Given the description of an element on the screen output the (x, y) to click on. 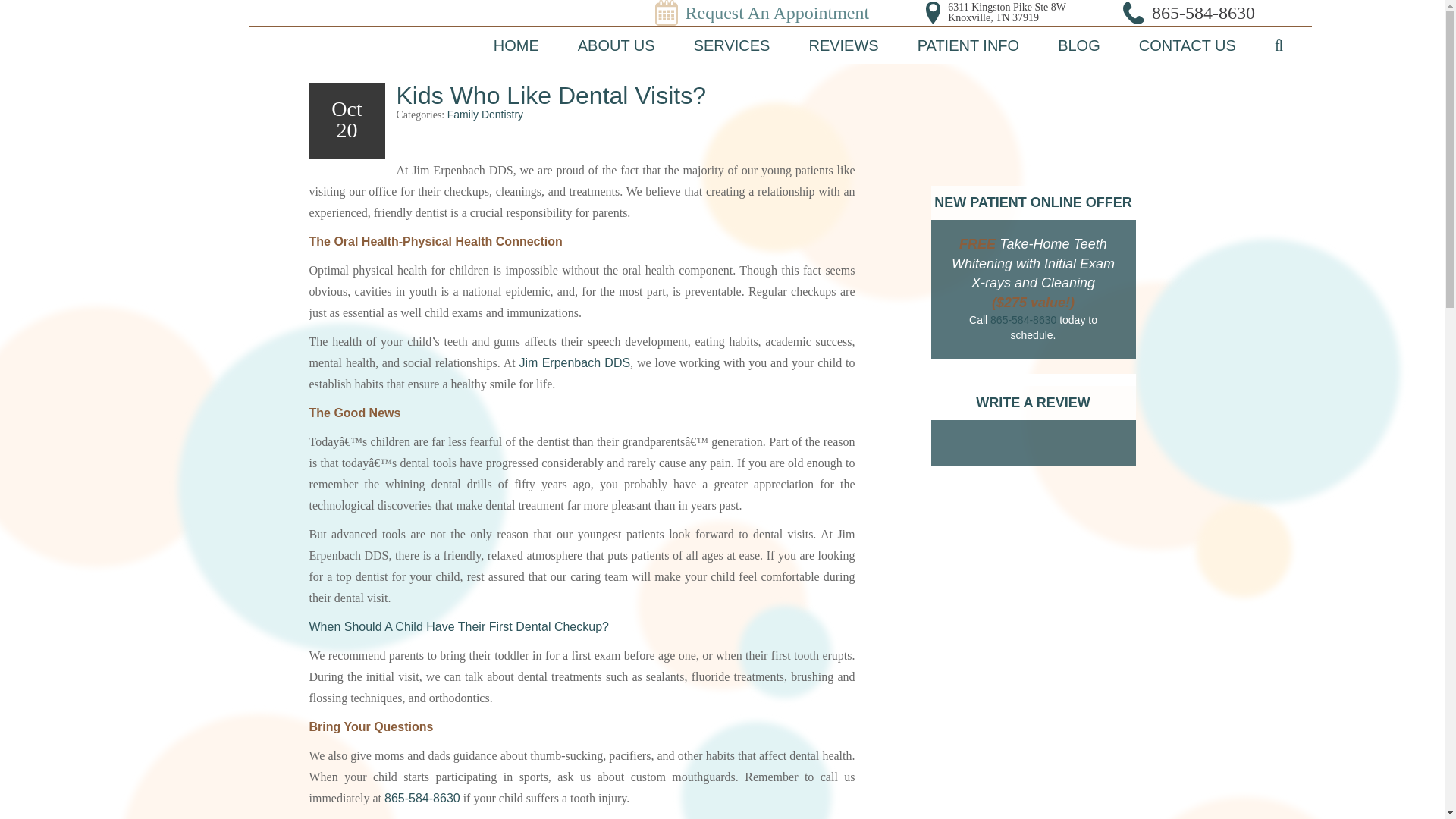
friendly children (444, 140)
HOME (515, 45)
ABOUT US (616, 45)
Jim Erpenbach DDS (120, 29)
865-584-8630 (1203, 12)
children's dentistry (458, 626)
Request An Appointment (777, 13)
REVIEWS (842, 45)
SERVICES (732, 45)
